Given the description of an element on the screen output the (x, y) to click on. 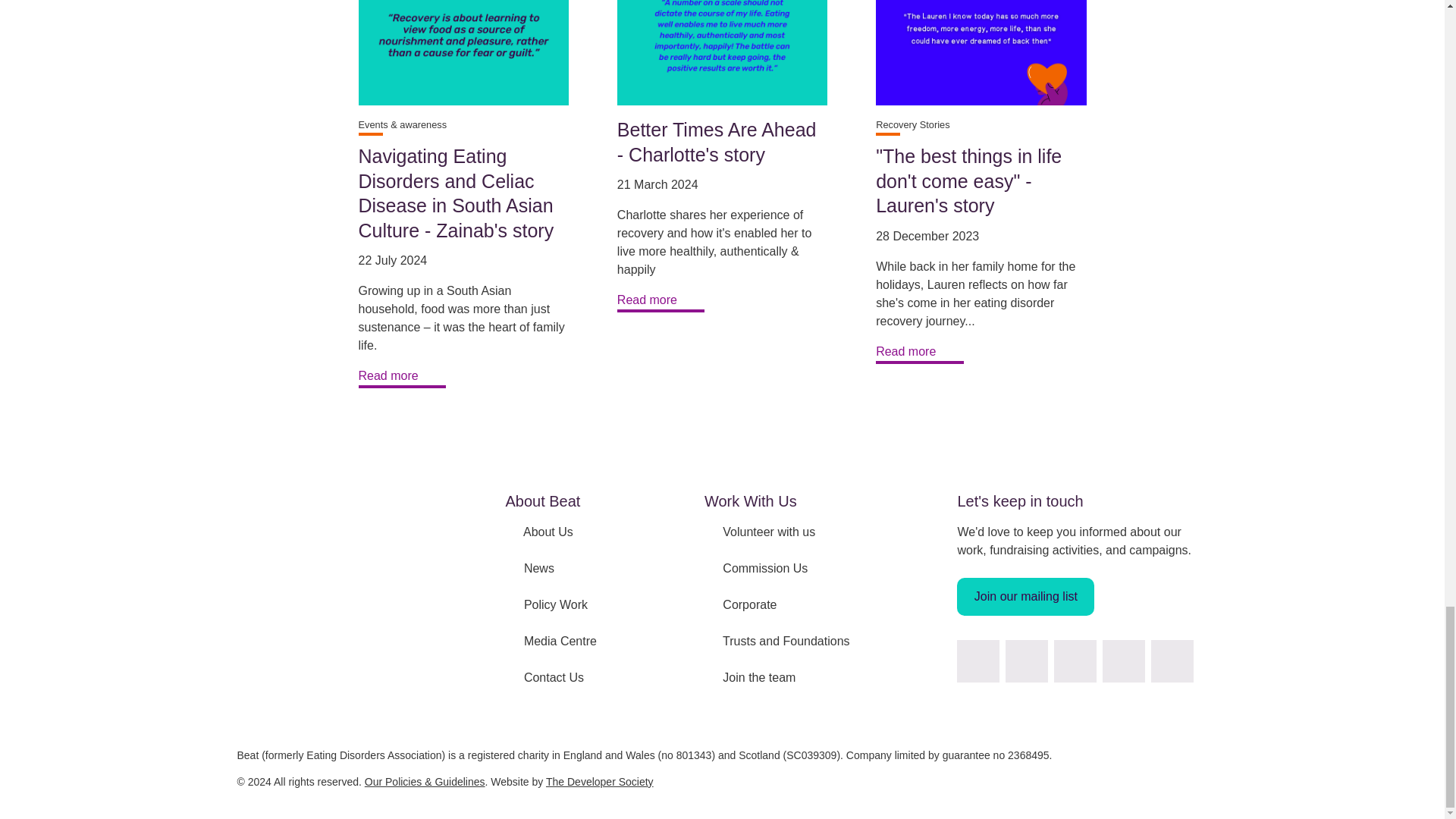
.button--outline (919, 353)
.button--outline (401, 377)
.button--outline (660, 301)
